Given the description of an element on the screen output the (x, y) to click on. 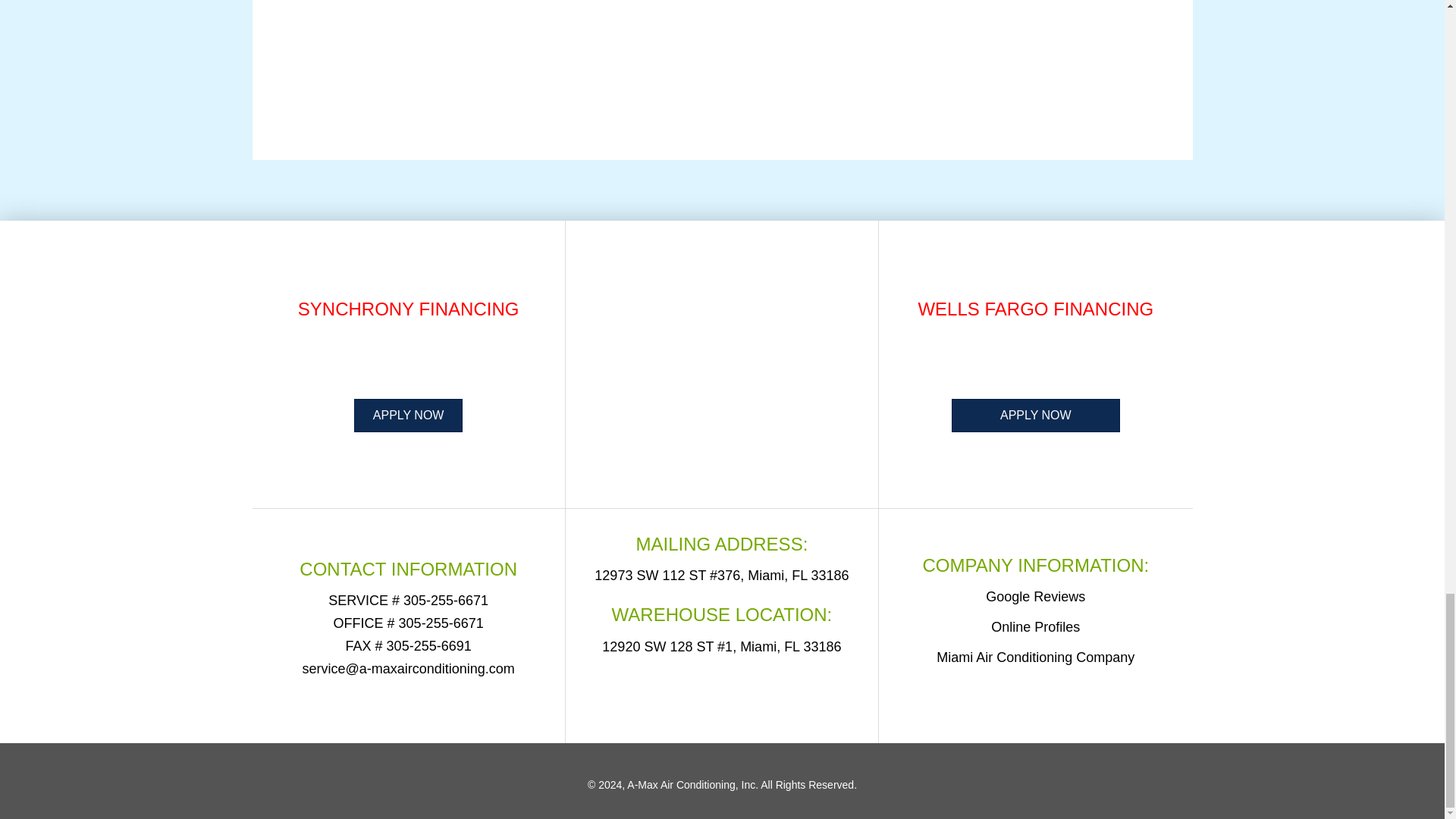
Miami Air Conditioning Company (1035, 657)
APPLY NOW (408, 415)
305-255-6671 (440, 622)
Google Reviews (1034, 596)
A-Max Air Conditioning, Inc (691, 784)
special-financing-available (1035, 360)
APPLY NOW (1035, 415)
special-financing-available (408, 360)
A-Max Air Conditioning (722, 692)
305-255-6671 (445, 600)
